Given the description of an element on the screen output the (x, y) to click on. 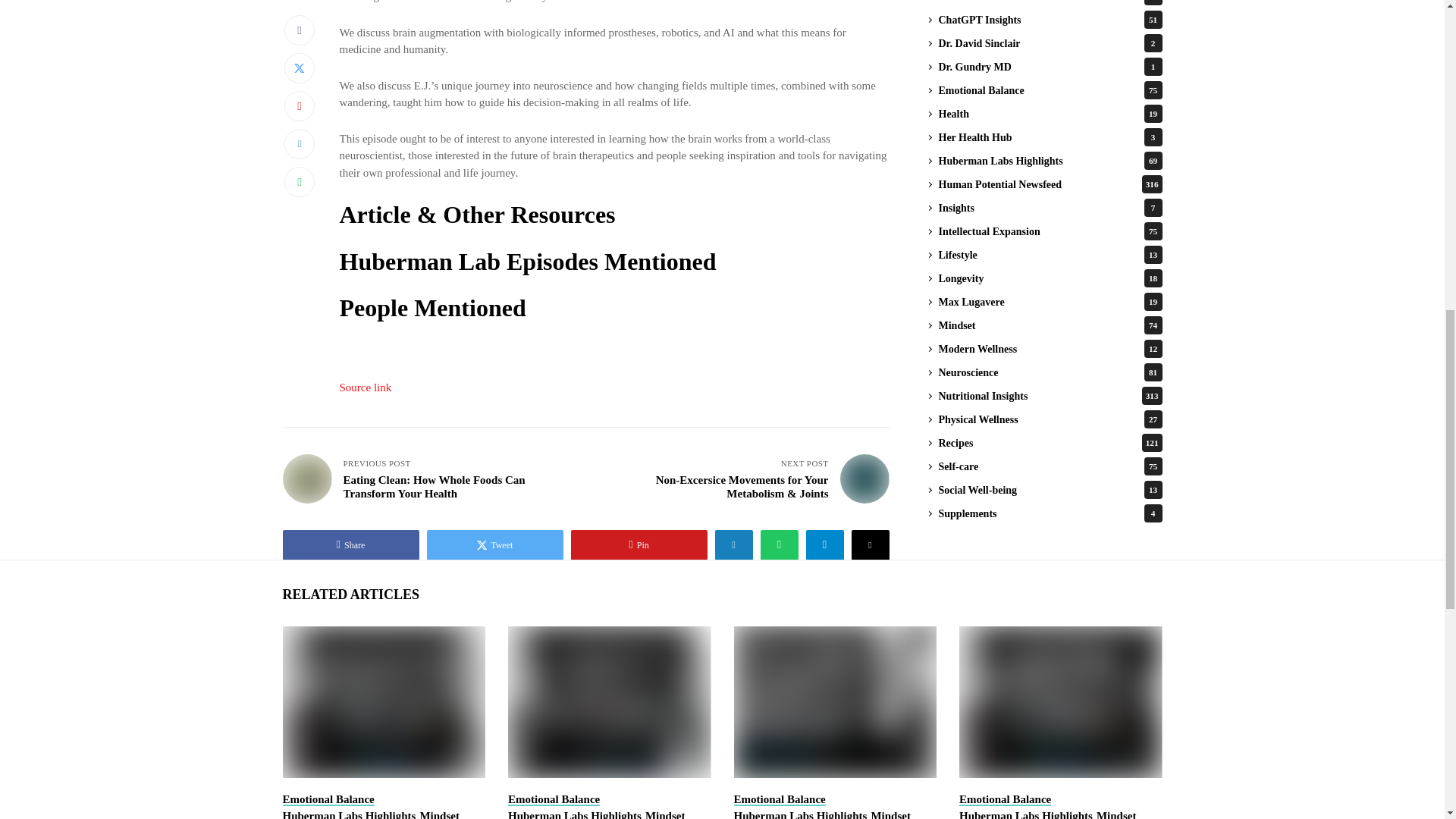
Eating Clean: How Whole Foods Can Transform Your Health (306, 478)
